Given the description of an element on the screen output the (x, y) to click on. 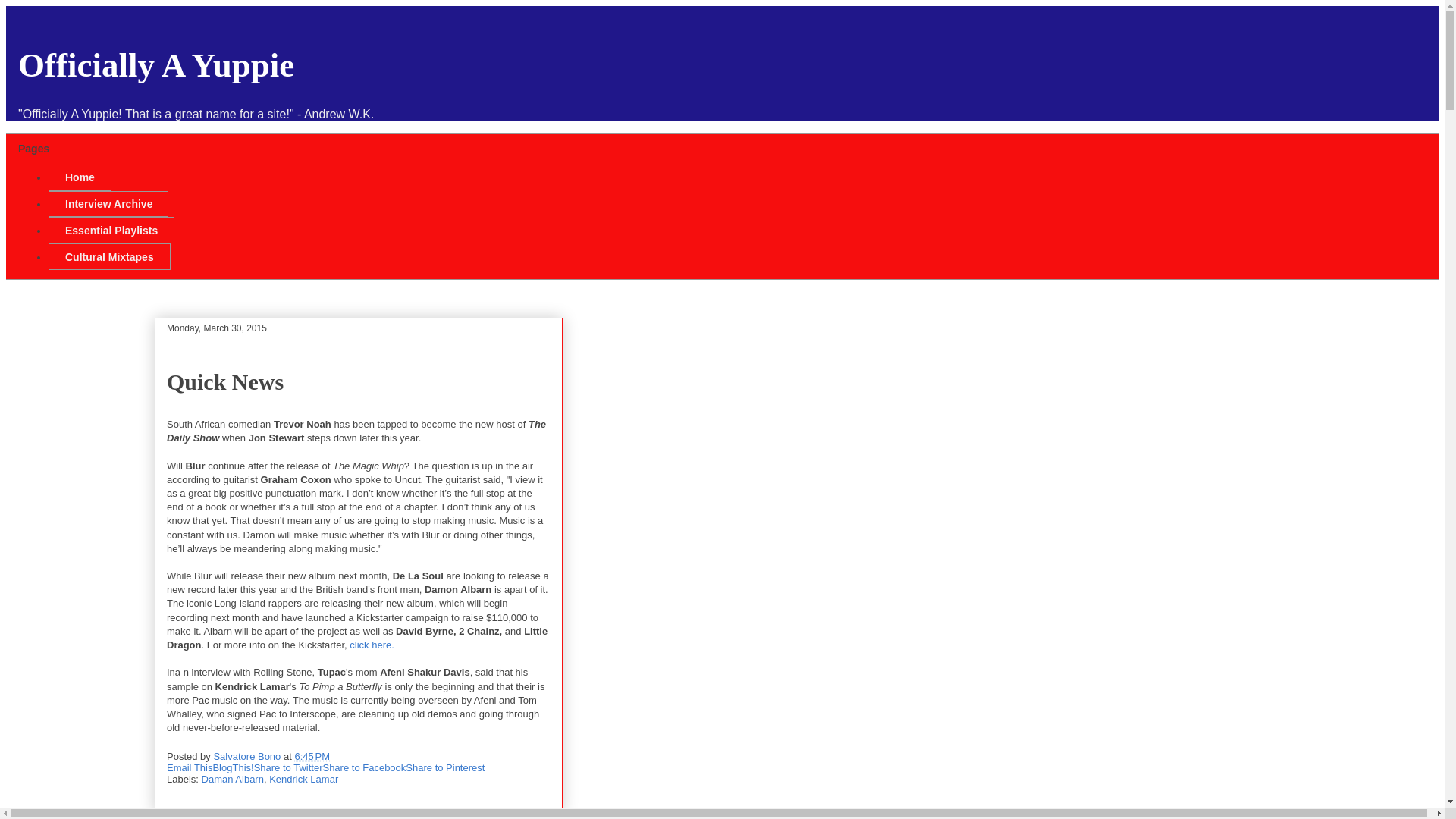
Share to Pinterest (445, 767)
BlogThis! (232, 767)
Officially A Yuppie (155, 64)
Home (79, 177)
Kendrick Lamar (303, 778)
BlogThis! (232, 767)
Cultural Mixtapes (109, 256)
Share to Twitter (288, 767)
click here. (371, 644)
Share to Twitter (288, 767)
permanent link (312, 756)
Daman Albarn (232, 778)
Email This (189, 767)
author profile (247, 756)
Salvatore Bono (247, 756)
